Given the description of an element on the screen output the (x, y) to click on. 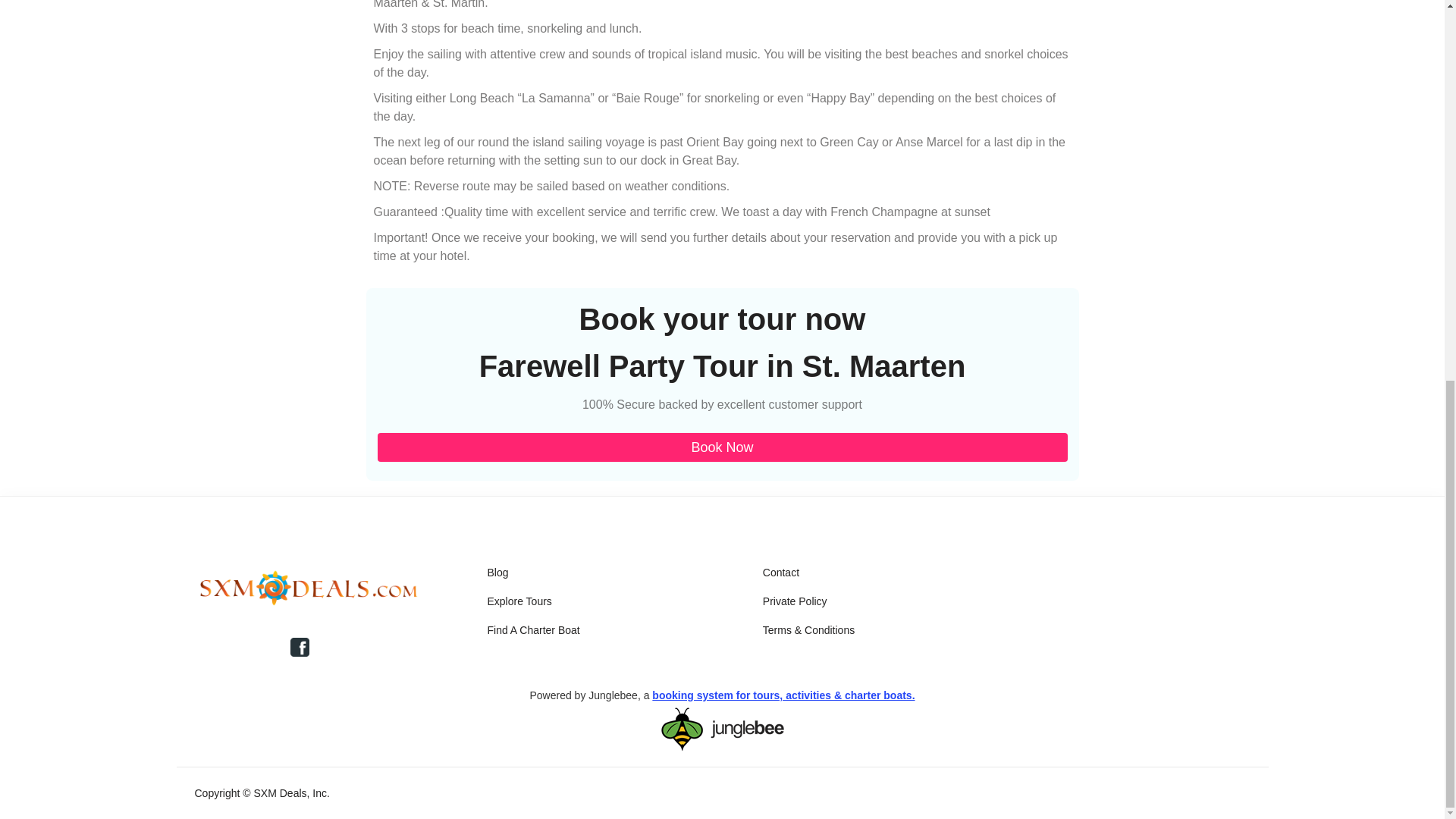
Book Now (722, 447)
Blog (497, 572)
Explore Tours (518, 601)
Find A Charter Boat (532, 630)
Private Policy (794, 601)
Contact (780, 572)
